Given the description of an element on the screen output the (x, y) to click on. 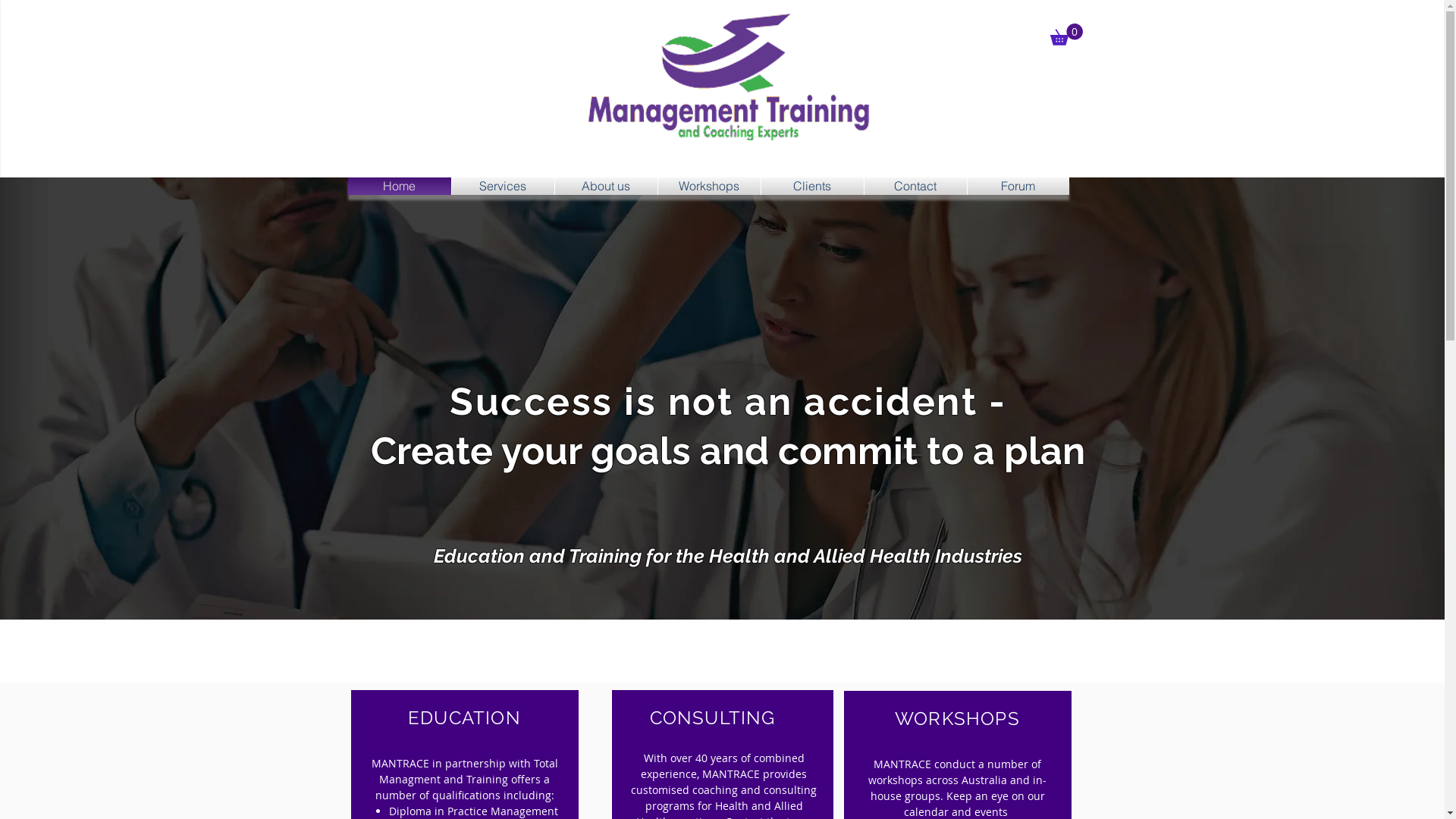
Services Element type: text (502, 185)
Clients Element type: text (812, 185)
0 Element type: text (1065, 34)
Contact Element type: text (915, 185)
Workshops Element type: text (709, 185)
Home Element type: text (398, 185)
Forum Element type: text (1018, 185)
About us Element type: text (606, 185)
